Given the description of an element on the screen output the (x, y) to click on. 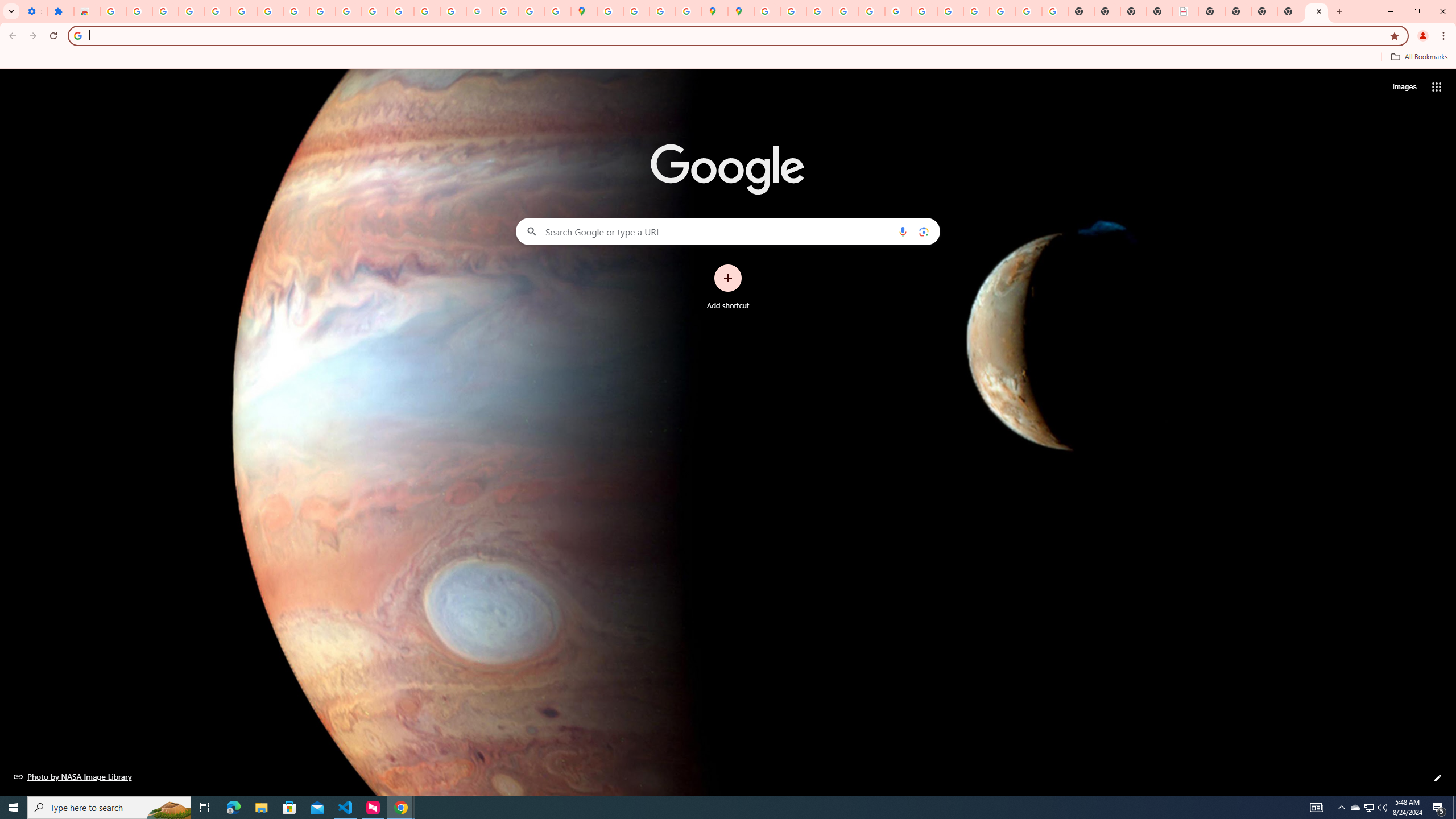
YouTube (923, 11)
Privacy Help Center - Policies Help (845, 11)
Safety in Our Products - Google Safety Center (689, 11)
Settings - On startup (34, 11)
Photo by NASA Image Library (72, 776)
Google Maps (584, 11)
